Given the description of an element on the screen output the (x, y) to click on. 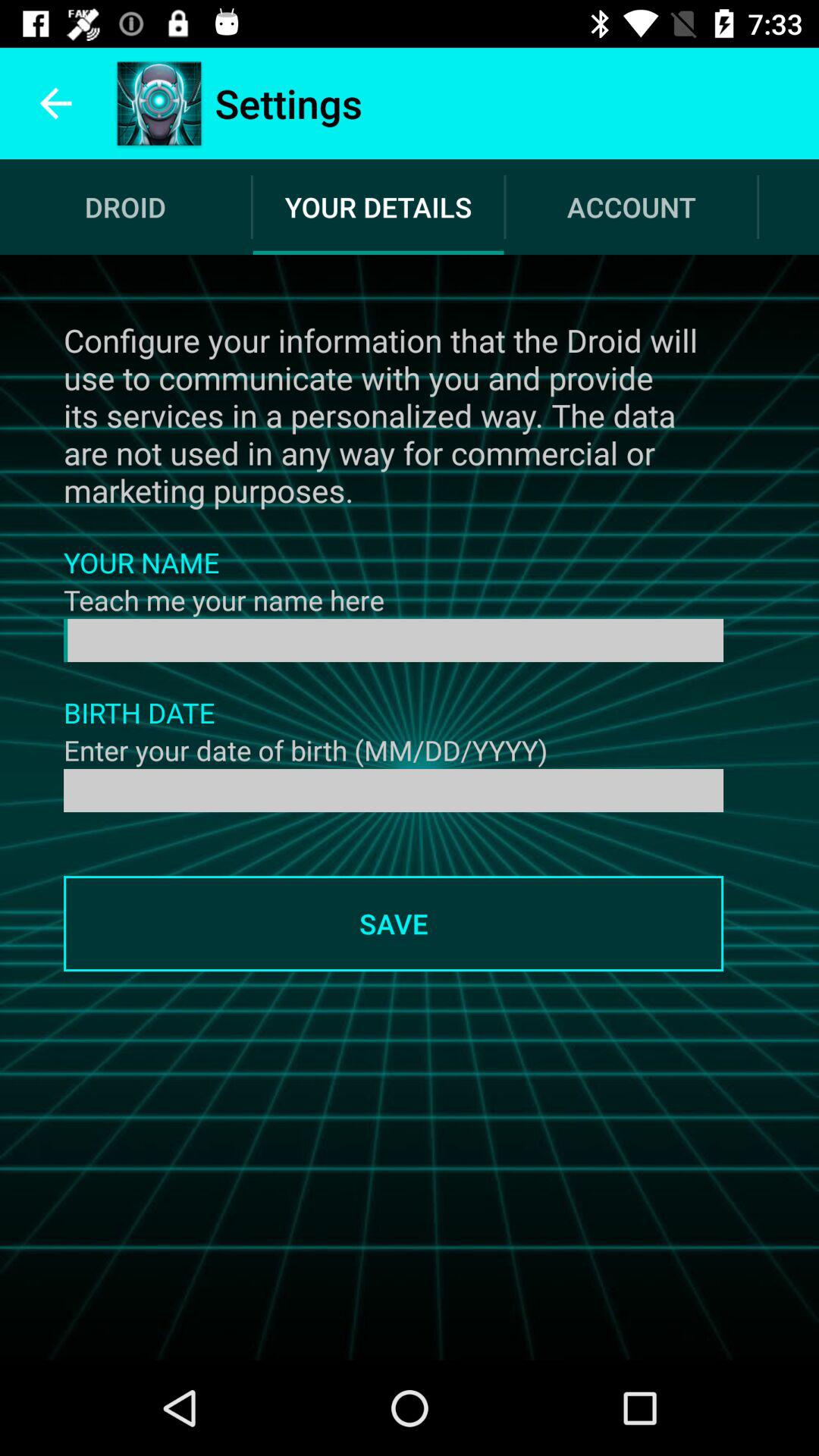
enter the date of birth details (393, 790)
